Given the description of an element on the screen output the (x, y) to click on. 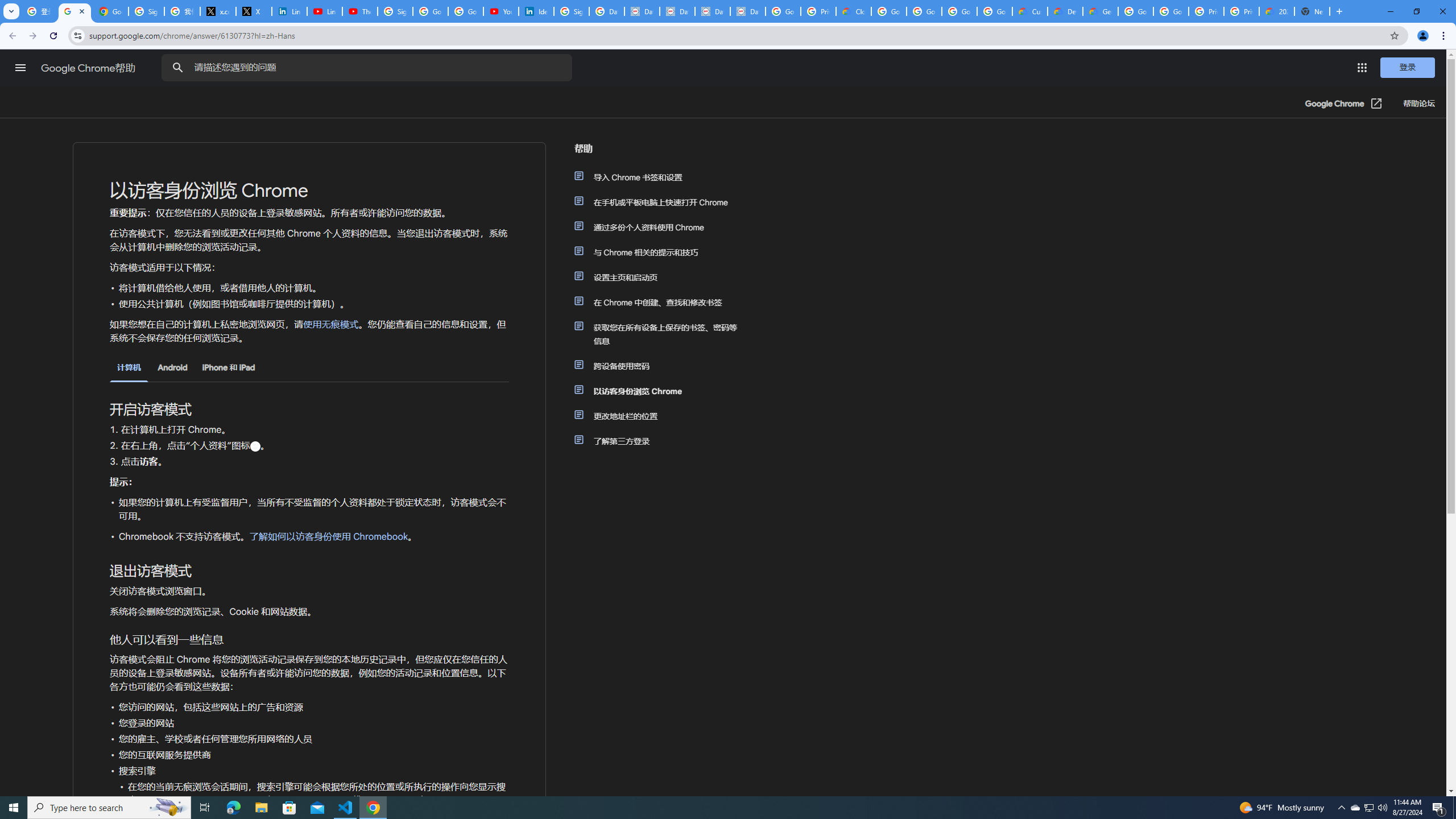
Sign in - Google Accounts (394, 11)
Cloud Data Processing Addendum | Google Cloud (853, 11)
Customer Care | Google Cloud (1029, 11)
Data Privacy Framework (747, 11)
